Given the description of an element on the screen output the (x, y) to click on. 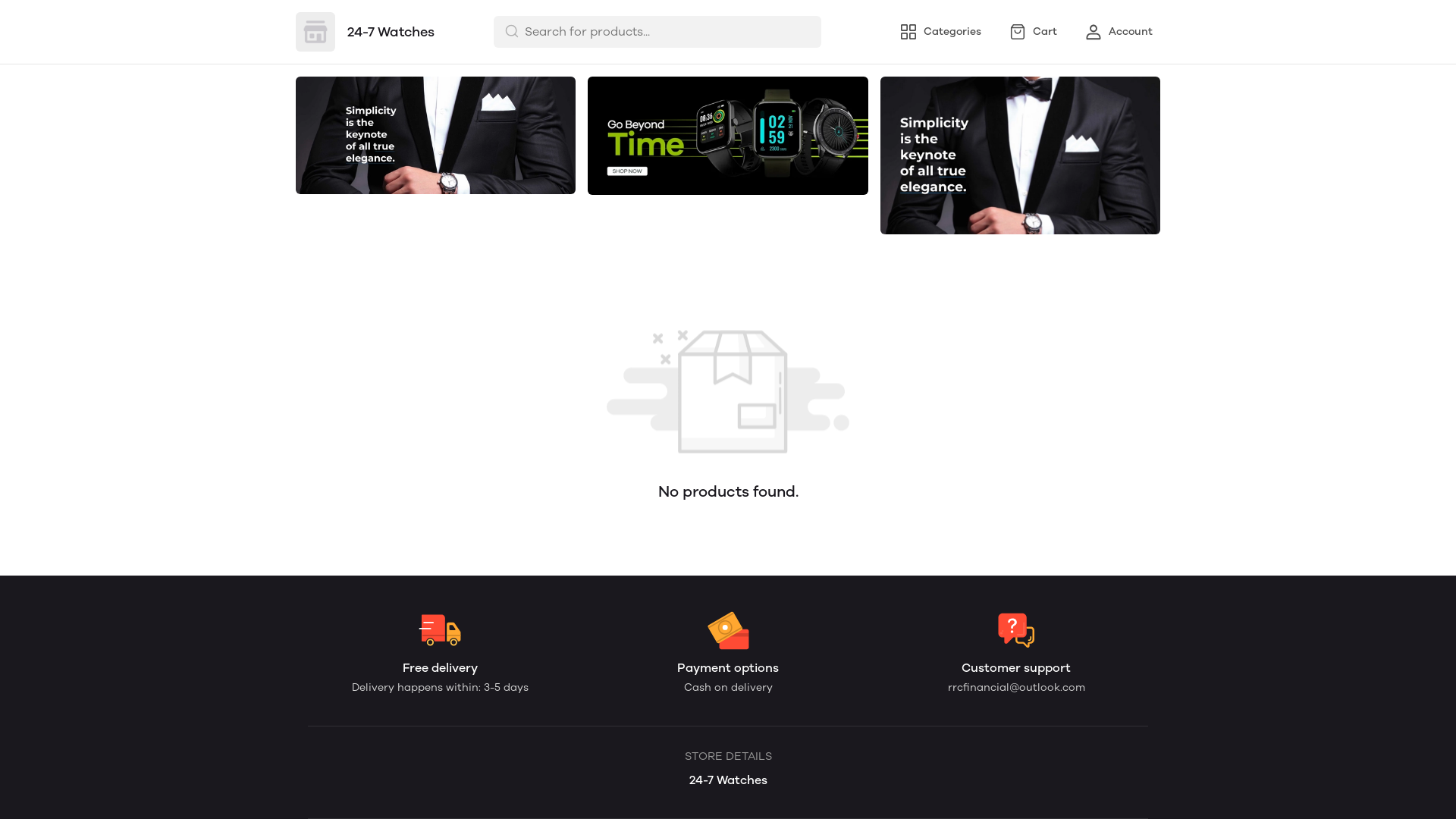
Account Element type: text (1118, 31)
24-7 Watches Element type: text (364, 31)
Cart Element type: text (1032, 31)
rrcfinancial@outlook.com Element type: text (1016, 686)
Categories Element type: text (939, 31)
